Given the description of an element on the screen output the (x, y) to click on. 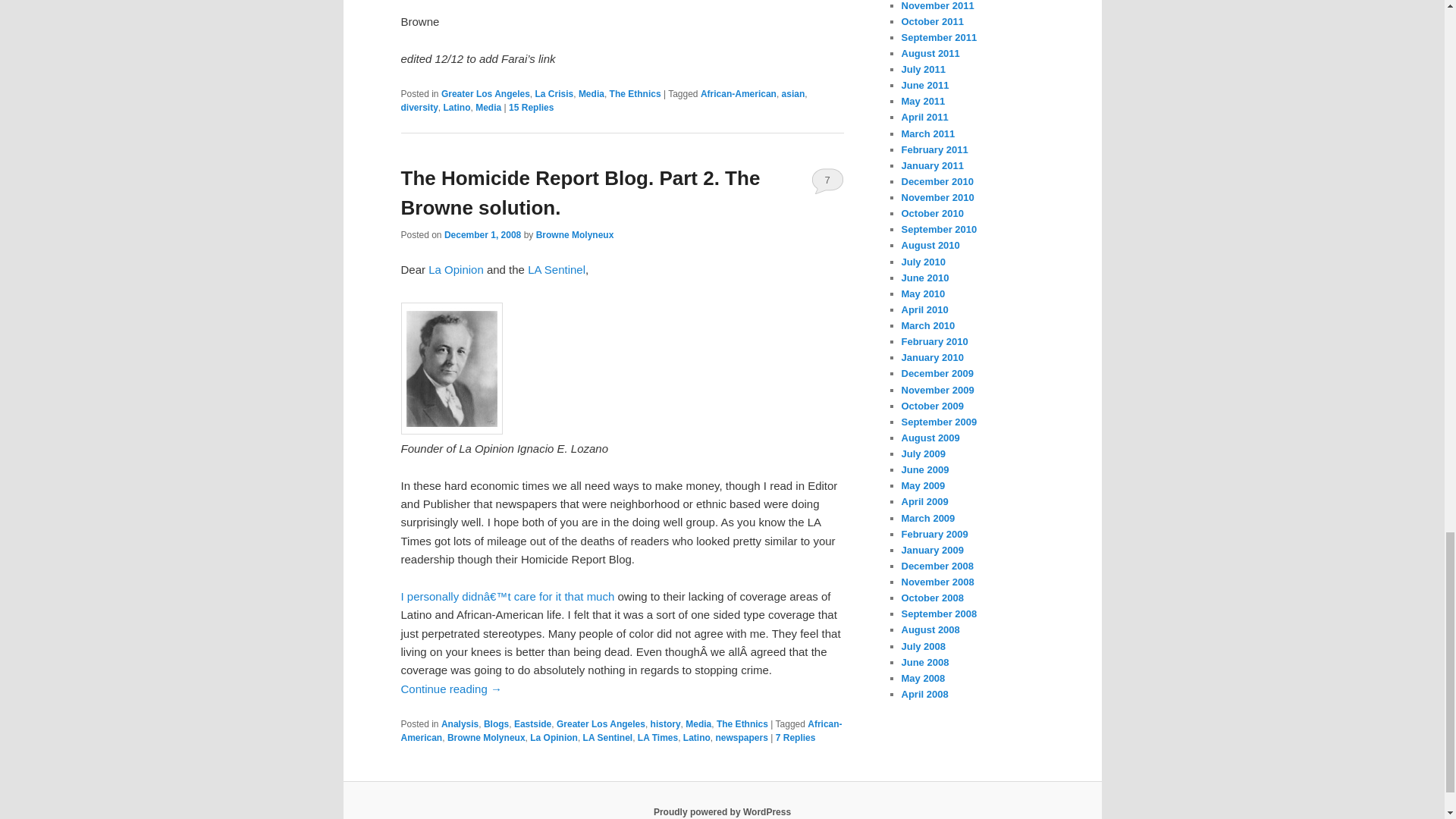
Media (591, 93)
Greater Los Angeles (485, 93)
View all posts by Browne Molyneux (574, 235)
Semantic Personal Publishing Platform (721, 811)
10:08 am (482, 235)
La Crisis (554, 93)
